Given the description of an element on the screen output the (x, y) to click on. 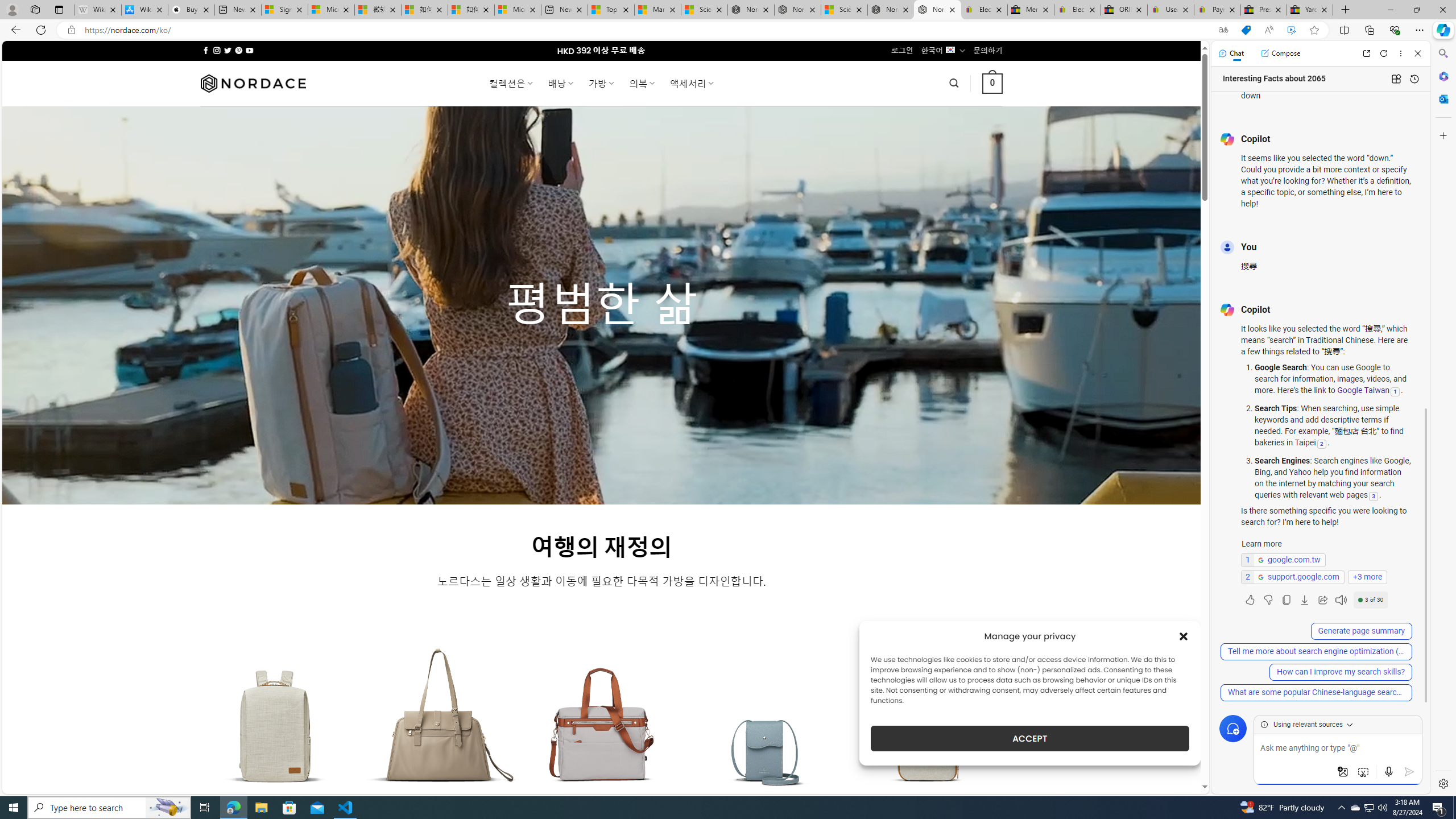
Refresh (1383, 53)
Follow on YouTube (249, 50)
Add this page to favorites (Ctrl+D) (1314, 29)
New Tab (1346, 9)
Workspaces (34, 9)
Nordace (252, 83)
Nordace (252, 83)
Tab actions menu (58, 9)
Read aloud this page (Ctrl+Shift+U) (1268, 29)
More options (1401, 53)
Copilot (Ctrl+Shift+.) (1442, 29)
